Given the description of an element on the screen output the (x, y) to click on. 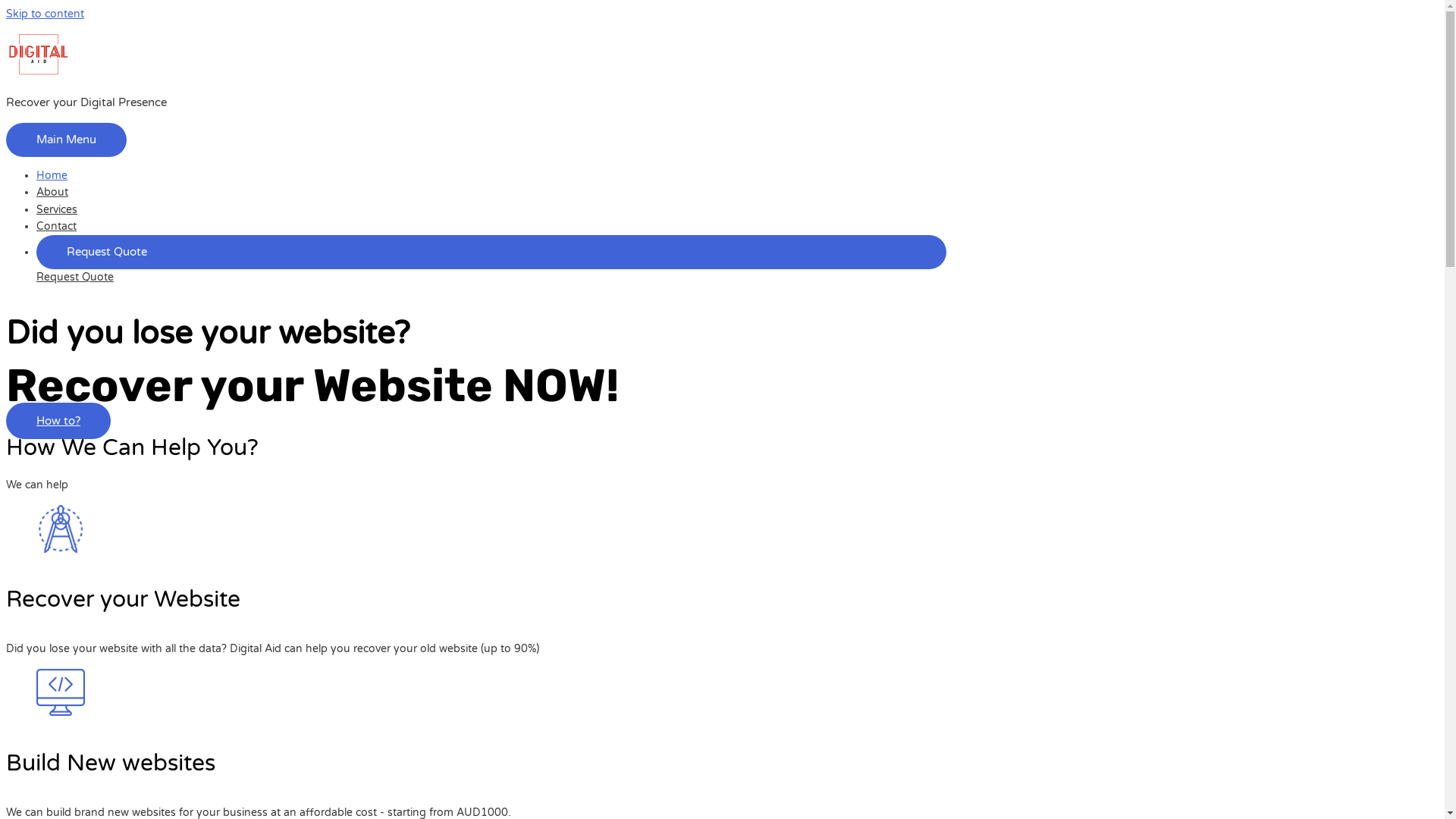
Request Quote Element type: text (74, 276)
Skip to content Element type: text (45, 13)
Contact Element type: text (56, 225)
Services Element type: text (56, 209)
Home Element type: text (51, 175)
How to? Element type: text (58, 420)
About Element type: text (52, 191)
Request Quote Element type: text (491, 259)
Main Menu Element type: text (66, 139)
